Given the description of an element on the screen output the (x, y) to click on. 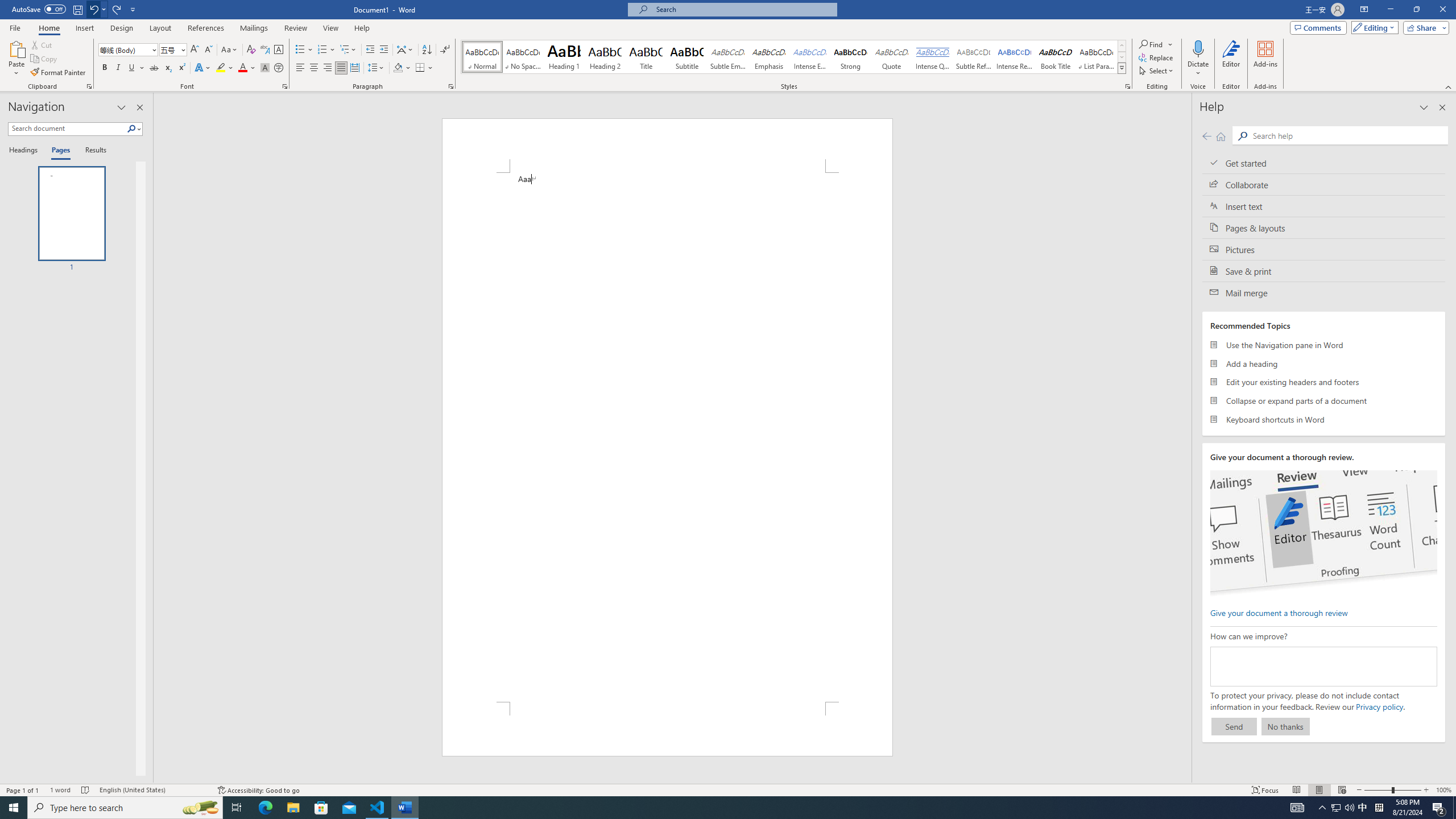
Strong (849, 56)
Mail merge (1323, 292)
Collapse the Ribbon (1448, 86)
Center (313, 67)
Open (182, 49)
Show/Hide Editing Marks (444, 49)
Office Clipboard... (88, 85)
Heading 1 (564, 56)
Undo Increase Indent (92, 9)
Subtitle (686, 56)
